Given the description of an element on the screen output the (x, y) to click on. 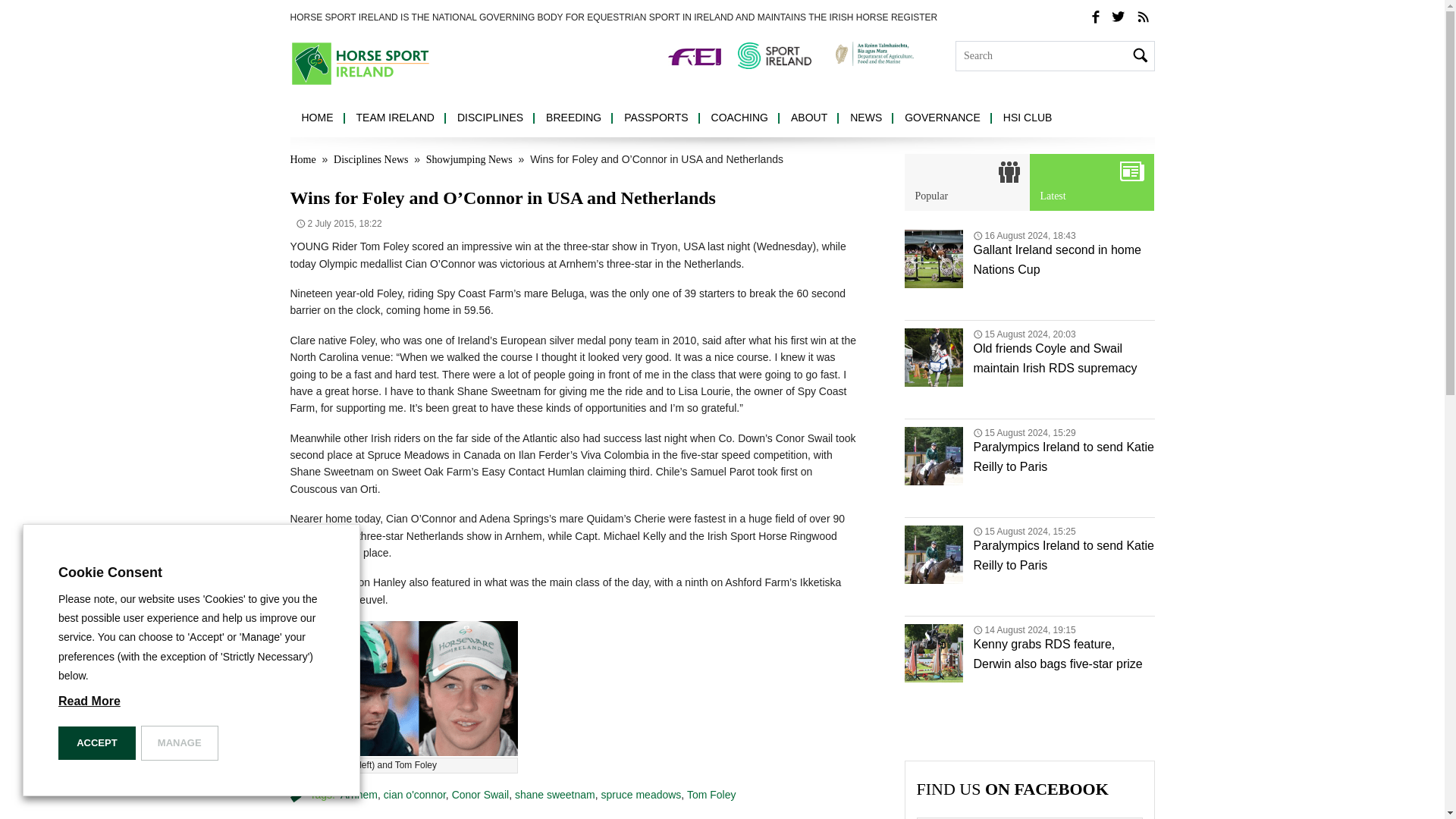
TEAM IRELAND (394, 118)
HOME (316, 118)
DISCIPLINES (489, 118)
